Given the description of an element on the screen output the (x, y) to click on. 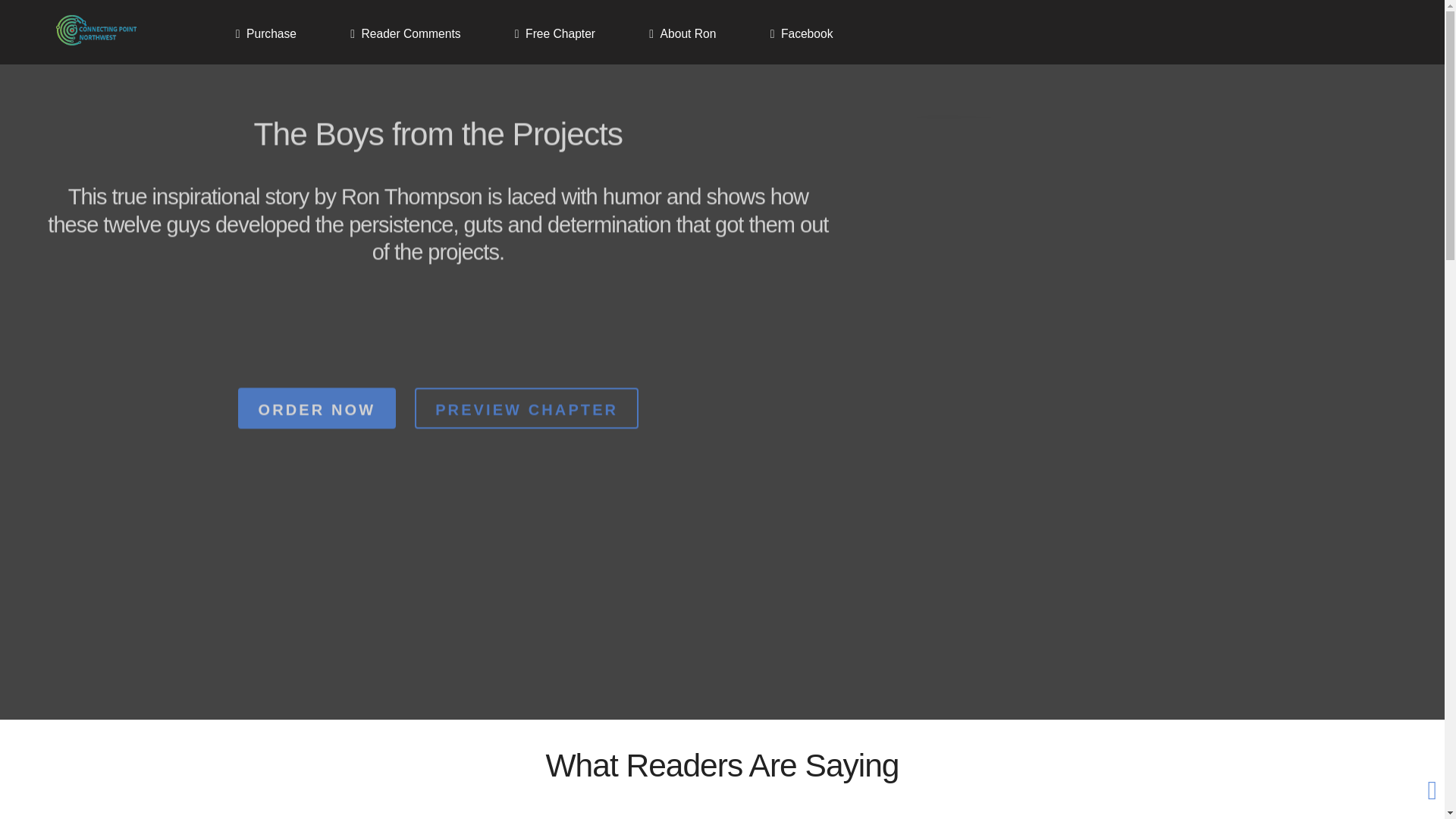
Purchase (265, 33)
About Ron (682, 33)
Facebook (802, 33)
Free Chapter (554, 33)
Reader Comments (405, 33)
Back to Top (1431, 790)
